Given the description of an element on the screen output the (x, y) to click on. 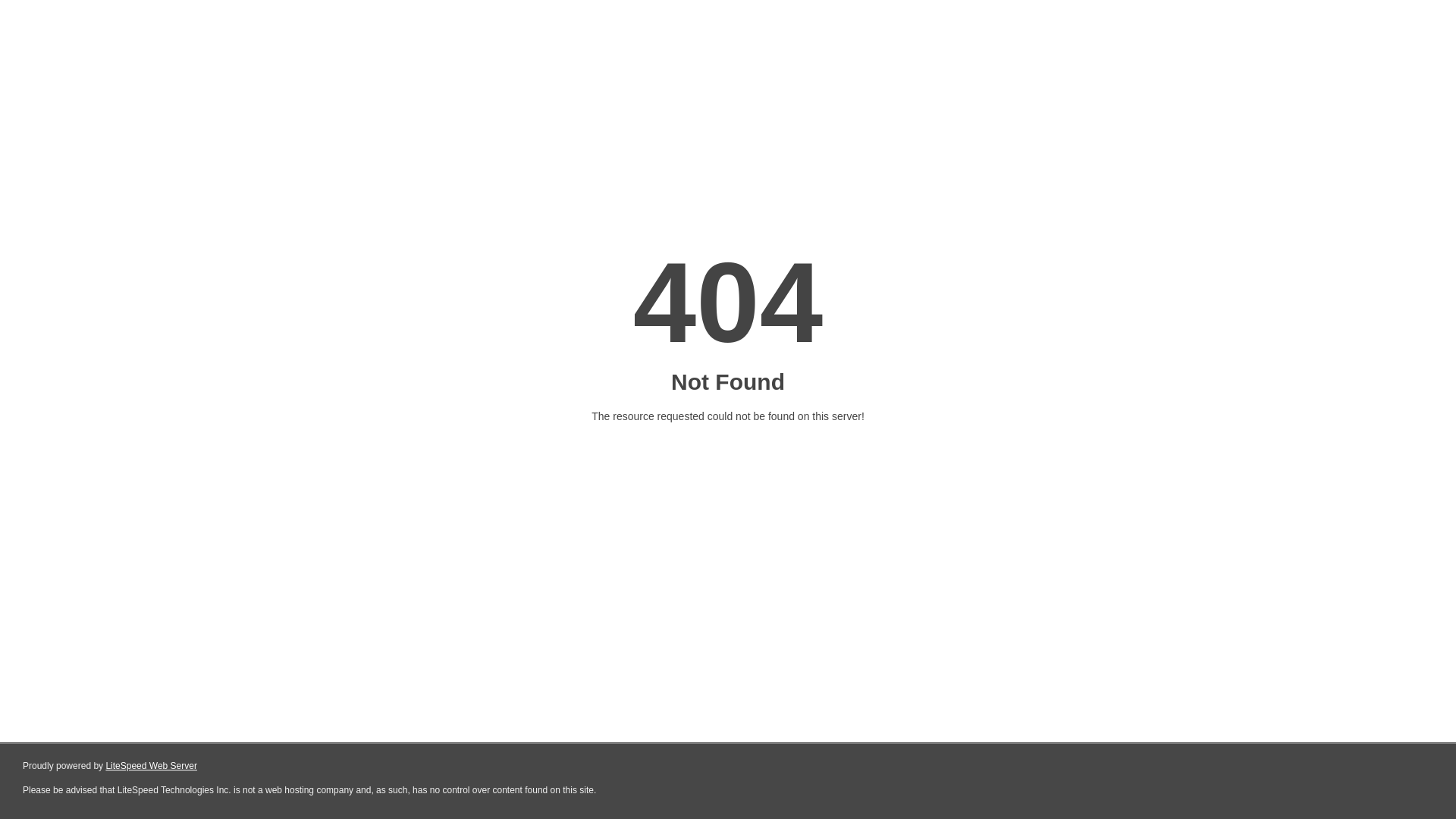
LiteSpeed Web Server (150, 765)
